Given the description of an element on the screen output the (x, y) to click on. 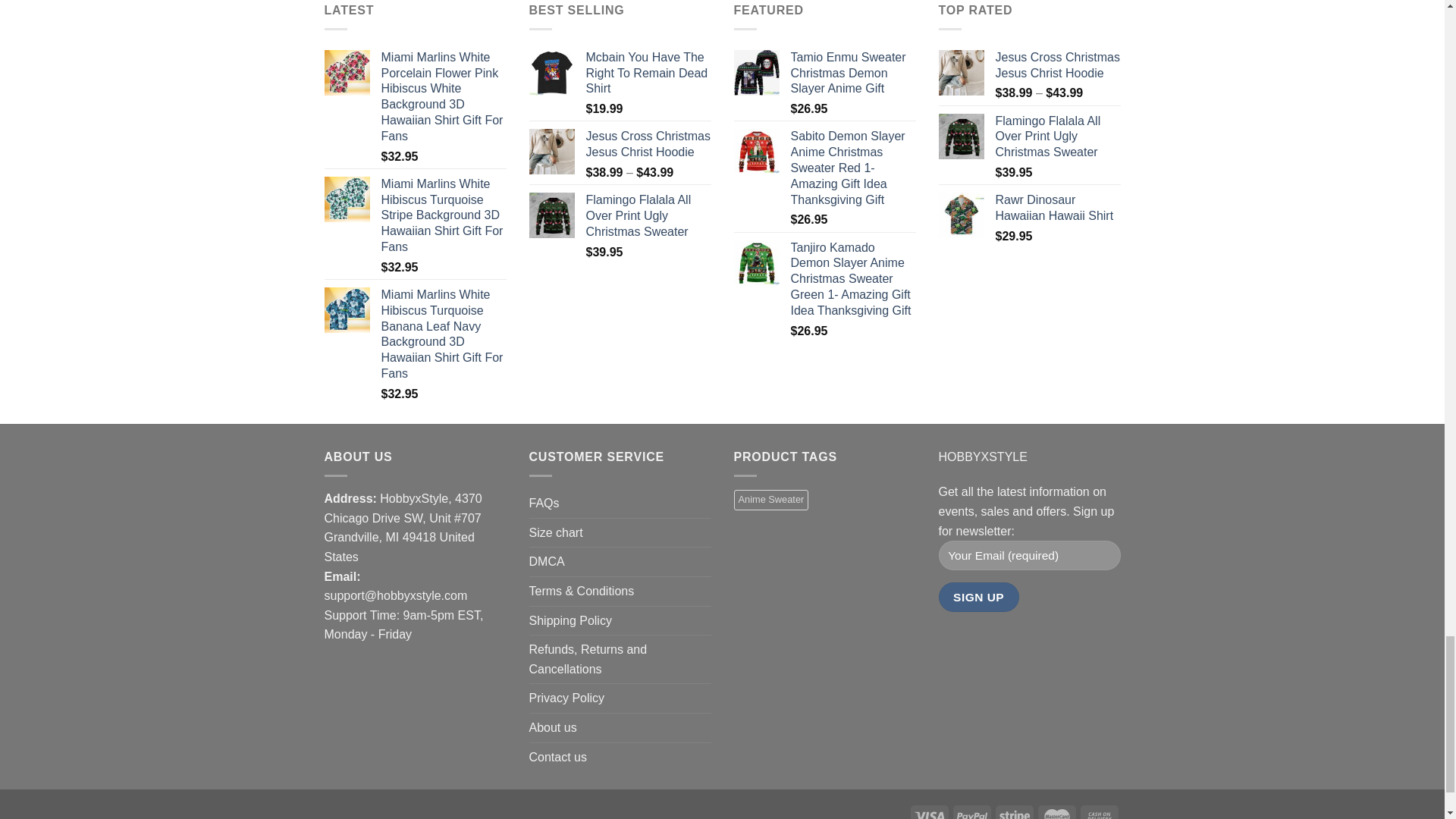
Sign Up (979, 596)
